Given the description of an element on the screen output the (x, y) to click on. 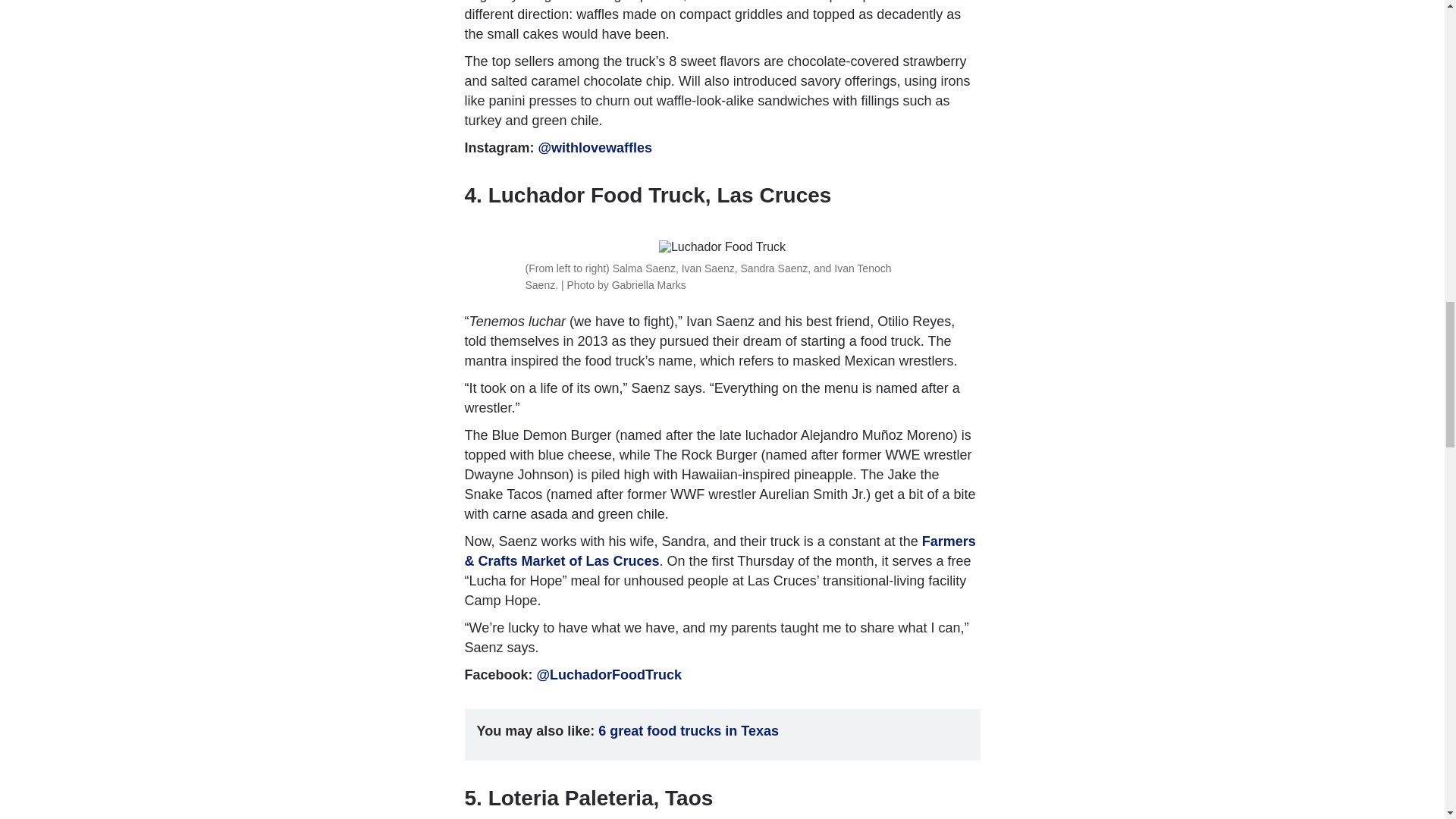
With Love Waffles Instagram (595, 147)
6 great food trucks in Texas (688, 730)
Luchador Food Truck Facebook Page (609, 674)
